Given the description of an element on the screen output the (x, y) to click on. 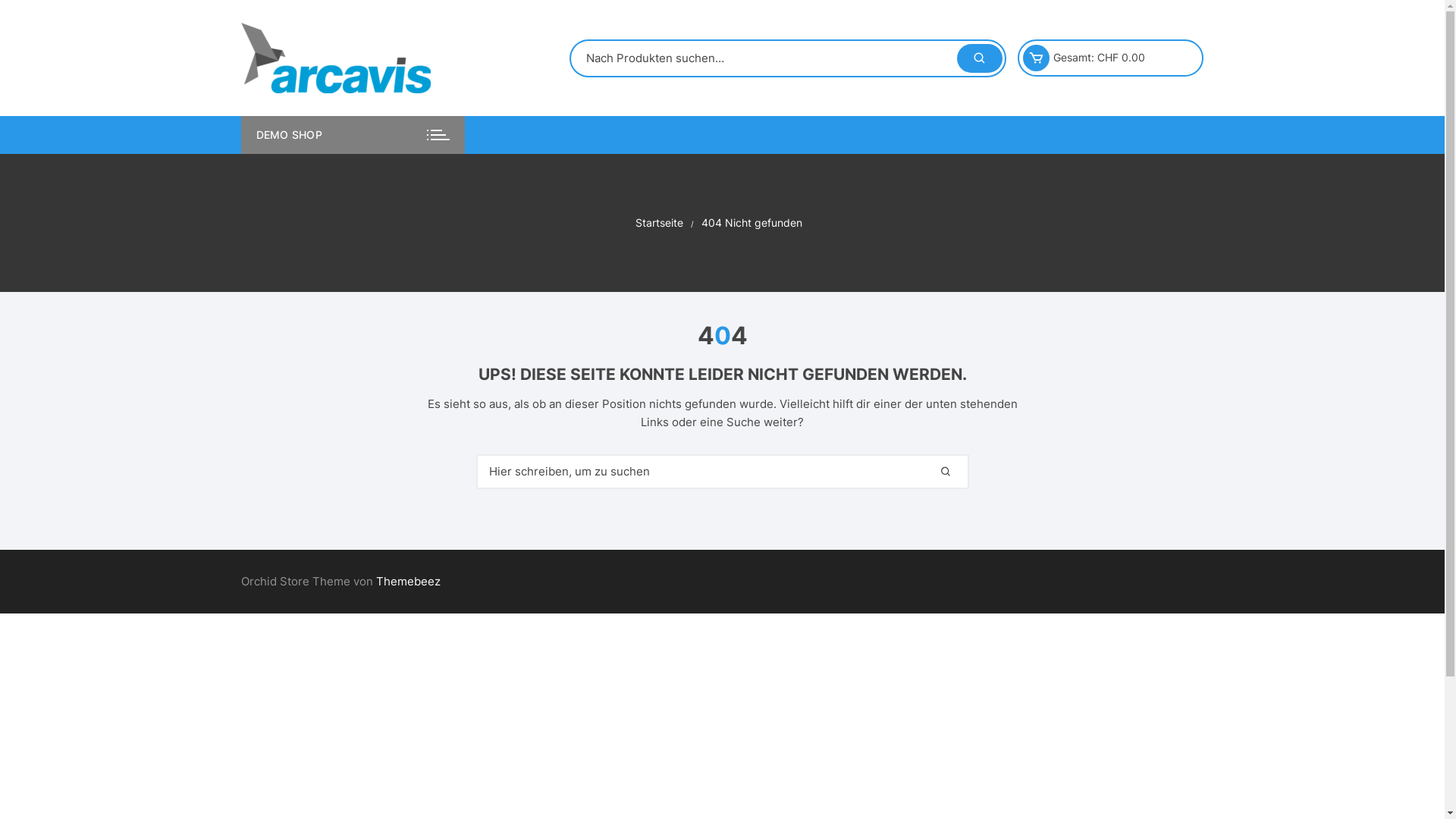
Startseite Element type: text (659, 222)
Themebeez Element type: text (408, 581)
404 Nicht gefunden Element type: text (750, 222)
DEMO SHOP Element type: text (352, 134)
